Given the description of an element on the screen output the (x, y) to click on. 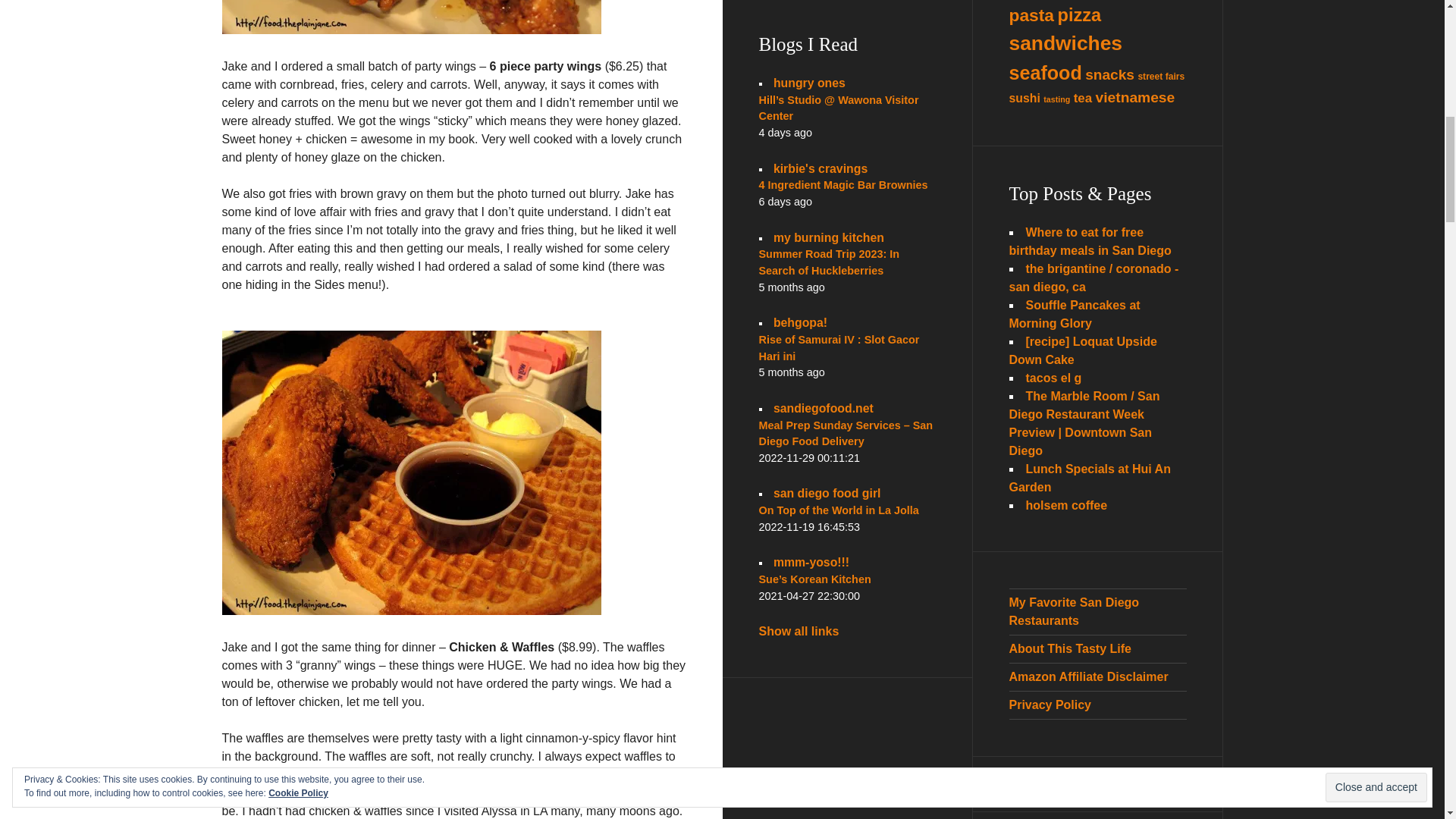
Party Wings - Annie Belle's - San Diego, CA (410, 17)
